Given the description of an element on the screen output the (x, y) to click on. 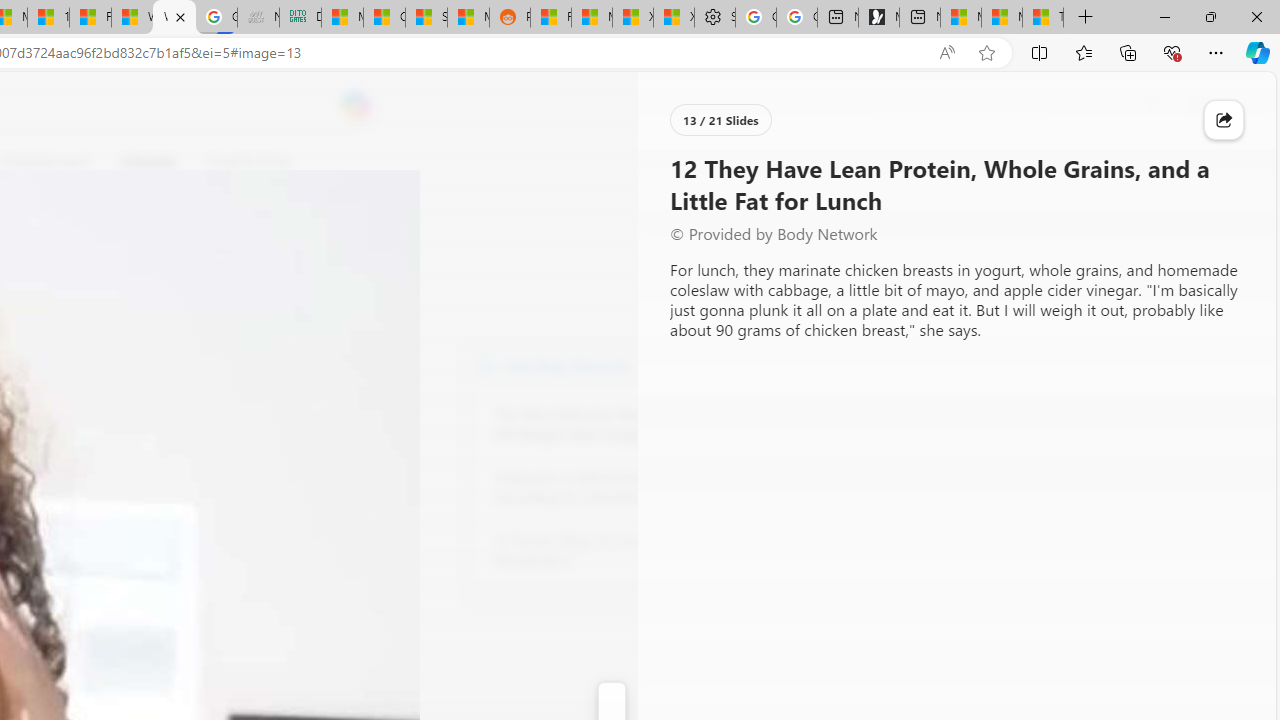
Food & Drink (240, 162)
Go to publisher's site (180, 258)
Entertainment (45, 162)
Lifestyle (148, 162)
12 Proven Ways To Increase Your Metabolism (603, 550)
Open settings (1231, 105)
Share this story (1224, 119)
Personalize (711, 162)
